Given the description of an element on the screen output the (x, y) to click on. 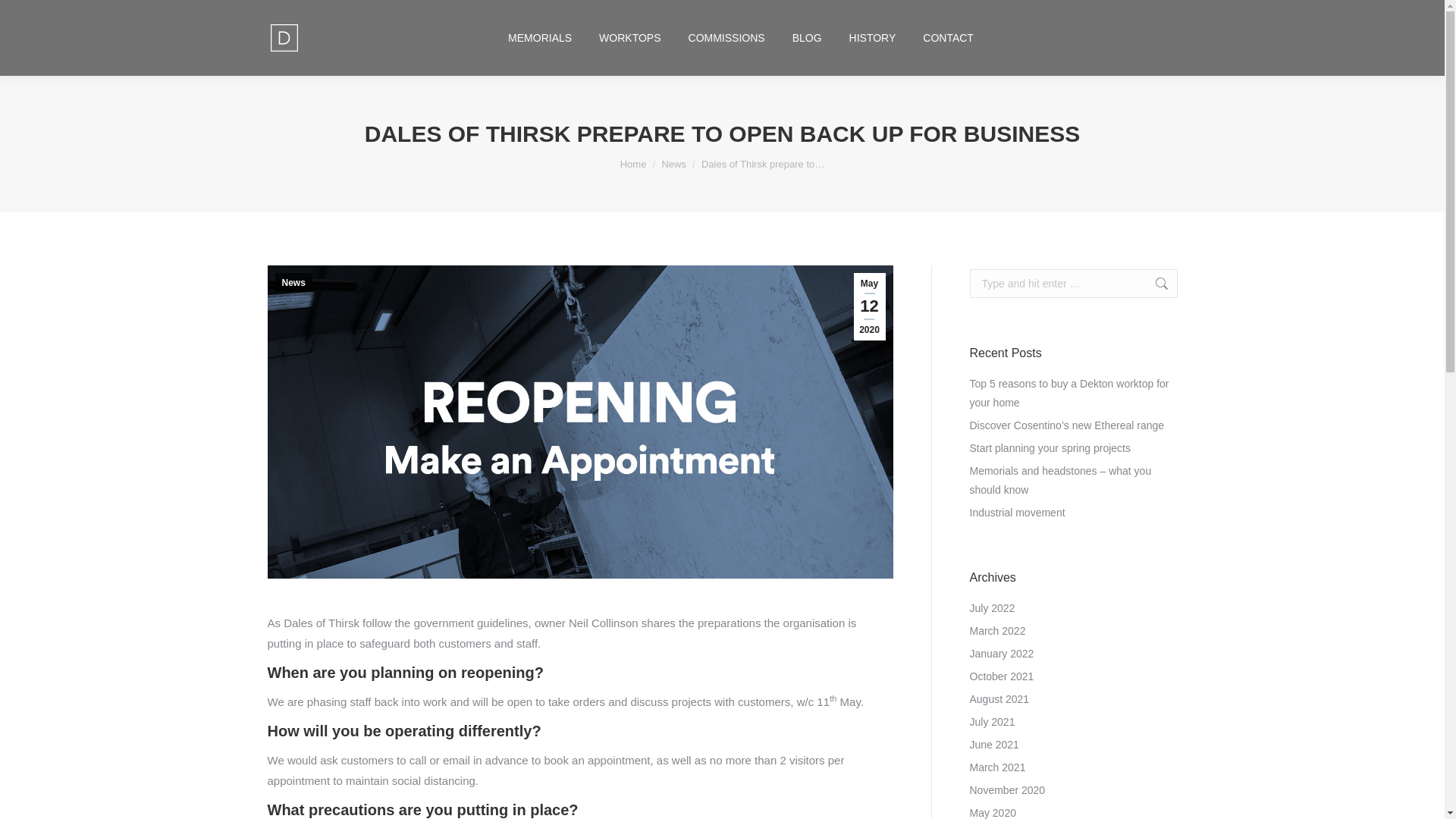
News (673, 163)
CONTACT (948, 37)
July 2022 (991, 608)
HISTORY (872, 37)
Start planning your spring projects (1049, 447)
August 2021 (999, 699)
Home (633, 163)
COMMISSIONS (726, 37)
Go! (1153, 283)
WORKTOPS (629, 37)
Industrial movement (1016, 512)
News (673, 163)
Go! (1153, 283)
Top 5 reasons to buy a Dekton worktop for your home (1072, 393)
Go! (1153, 283)
